Given the description of an element on the screen output the (x, y) to click on. 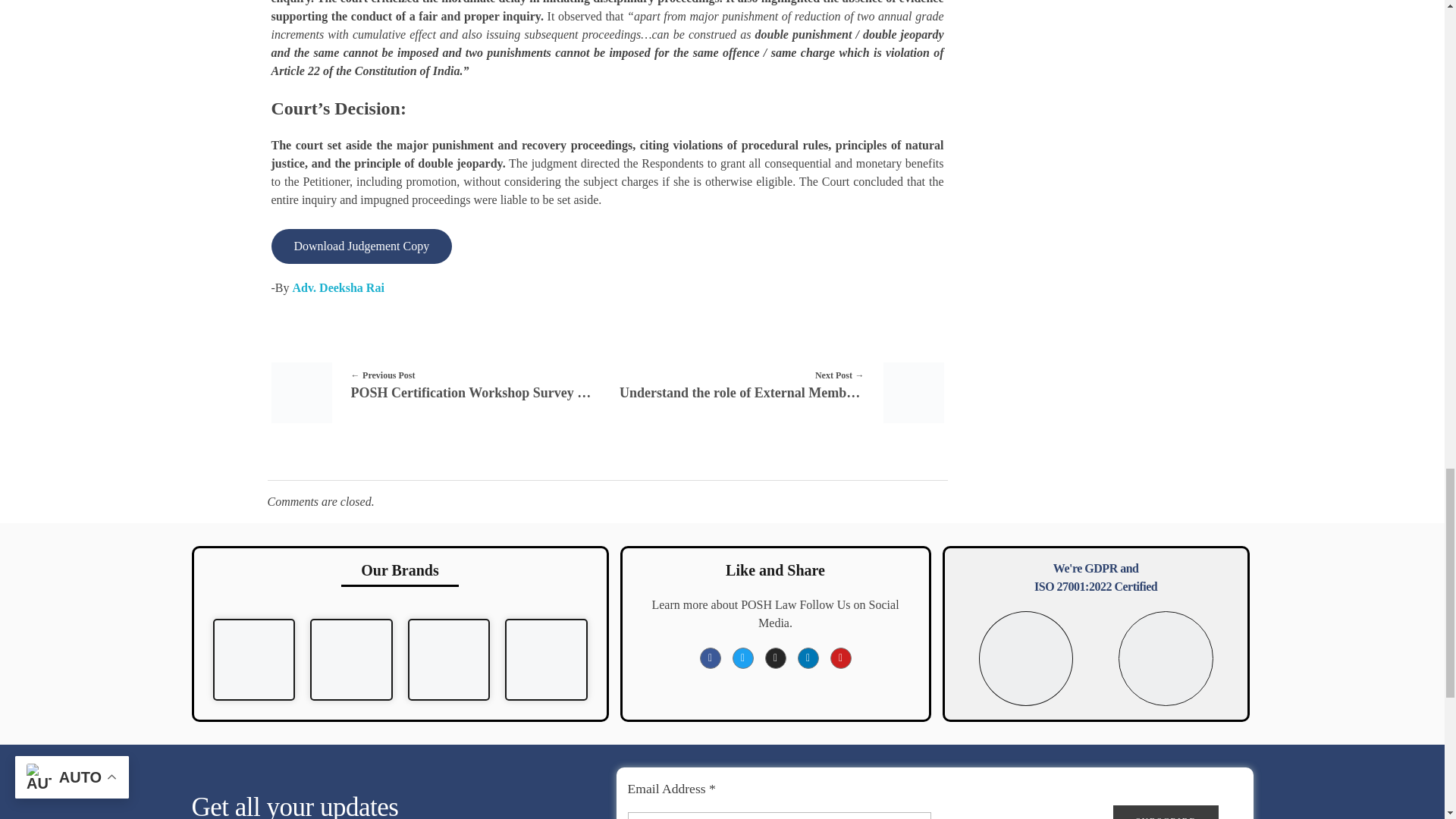
Subscribe (1166, 812)
